Given the description of an element on the screen output the (x, y) to click on. 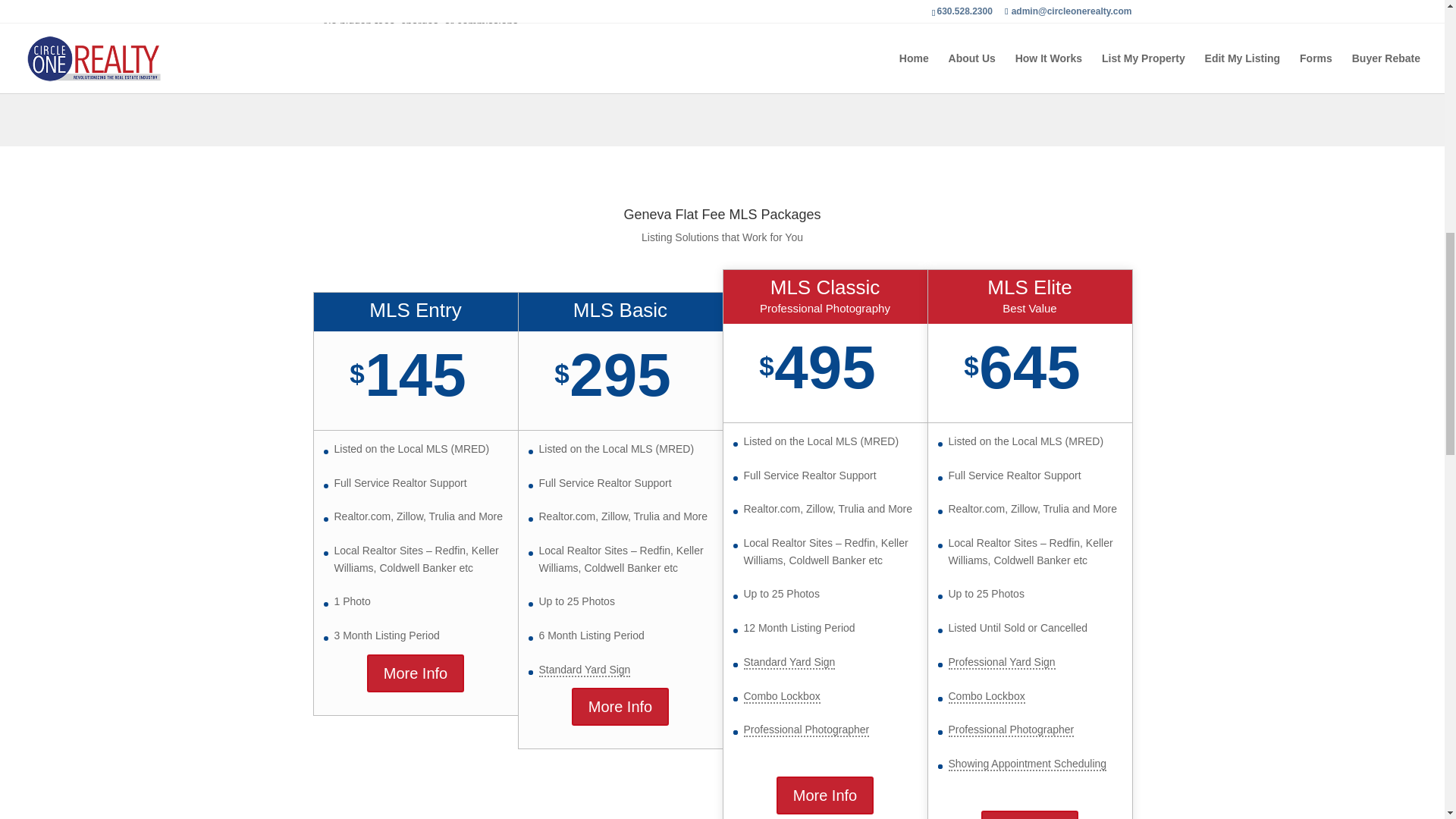
More Info (1029, 814)
More Info (415, 673)
More Info (824, 795)
More Info (620, 706)
